Given the description of an element on the screen output the (x, y) to click on. 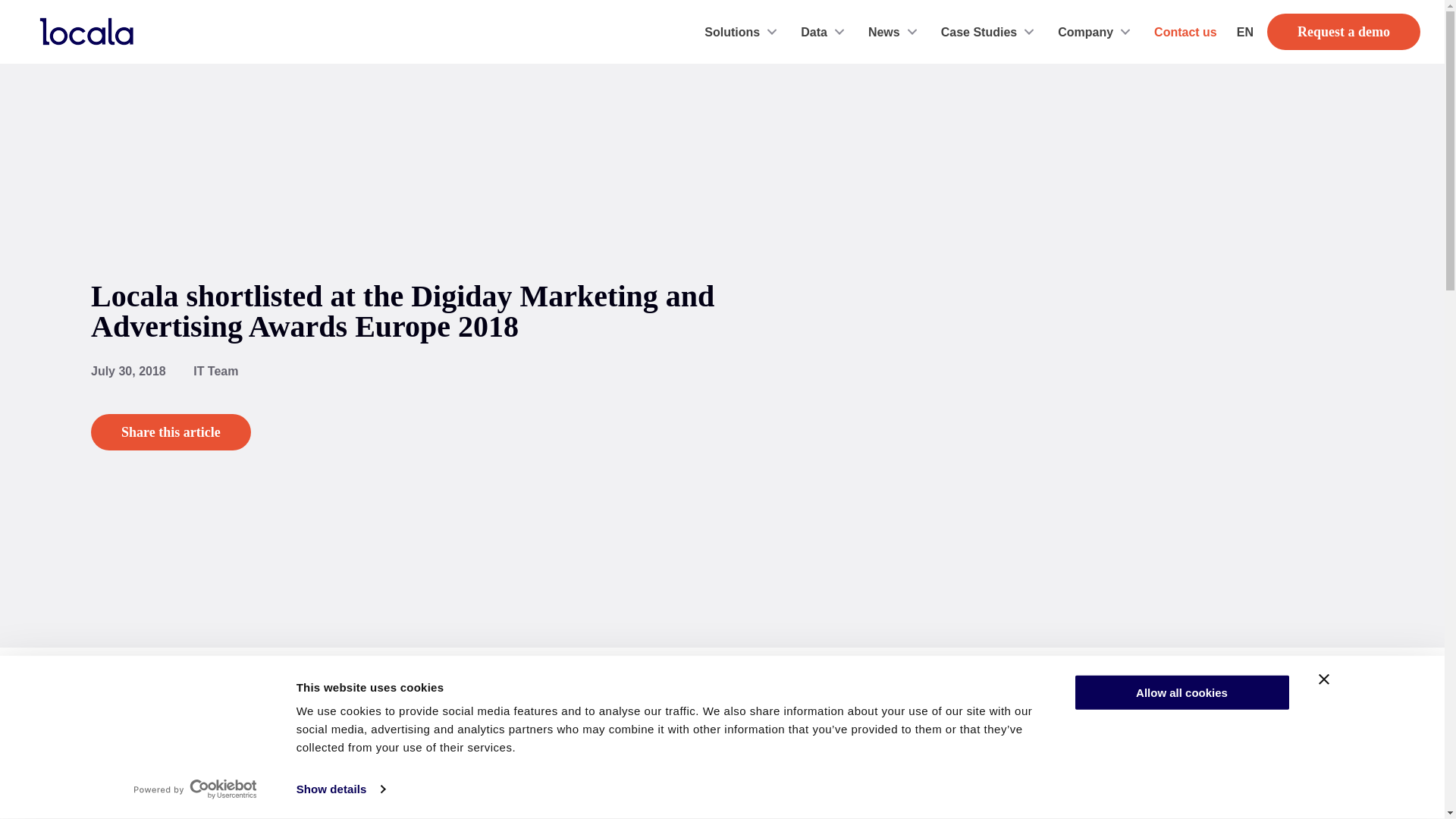
Show details (340, 789)
